Given the description of an element on the screen output the (x, y) to click on. 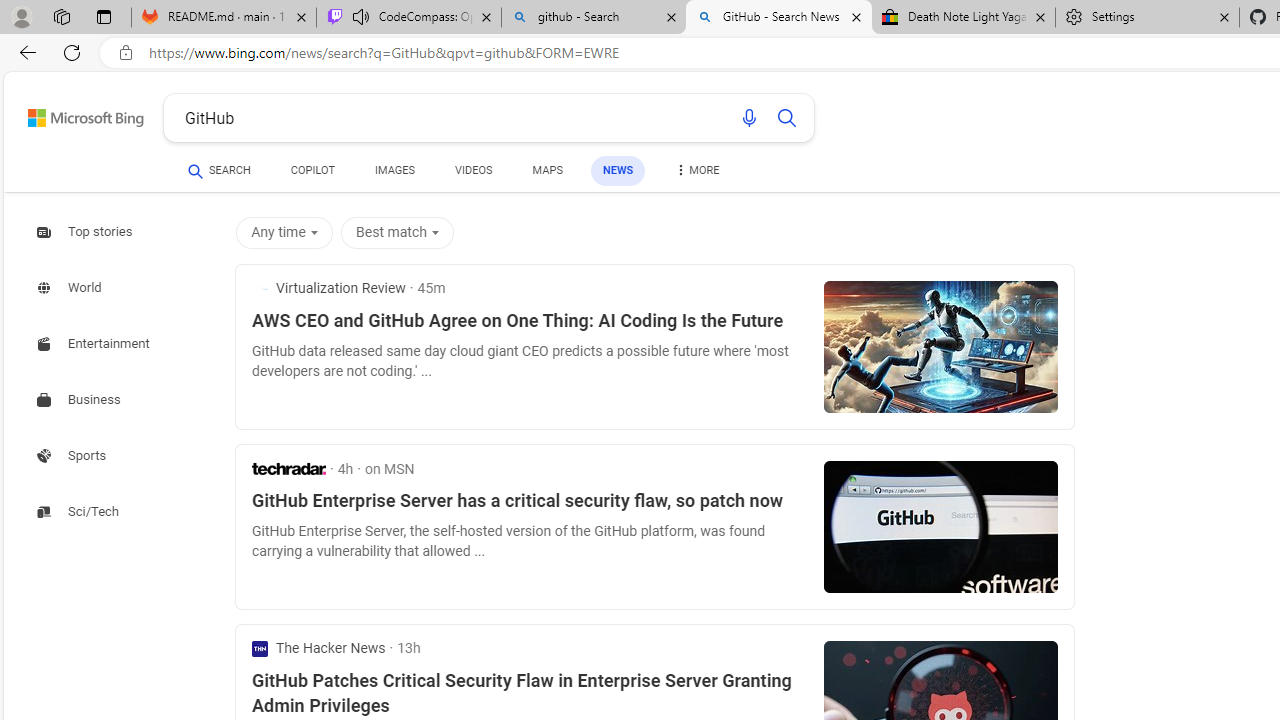
NEWS (618, 170)
Any time (287, 232)
